Given the description of an element on the screen output the (x, y) to click on. 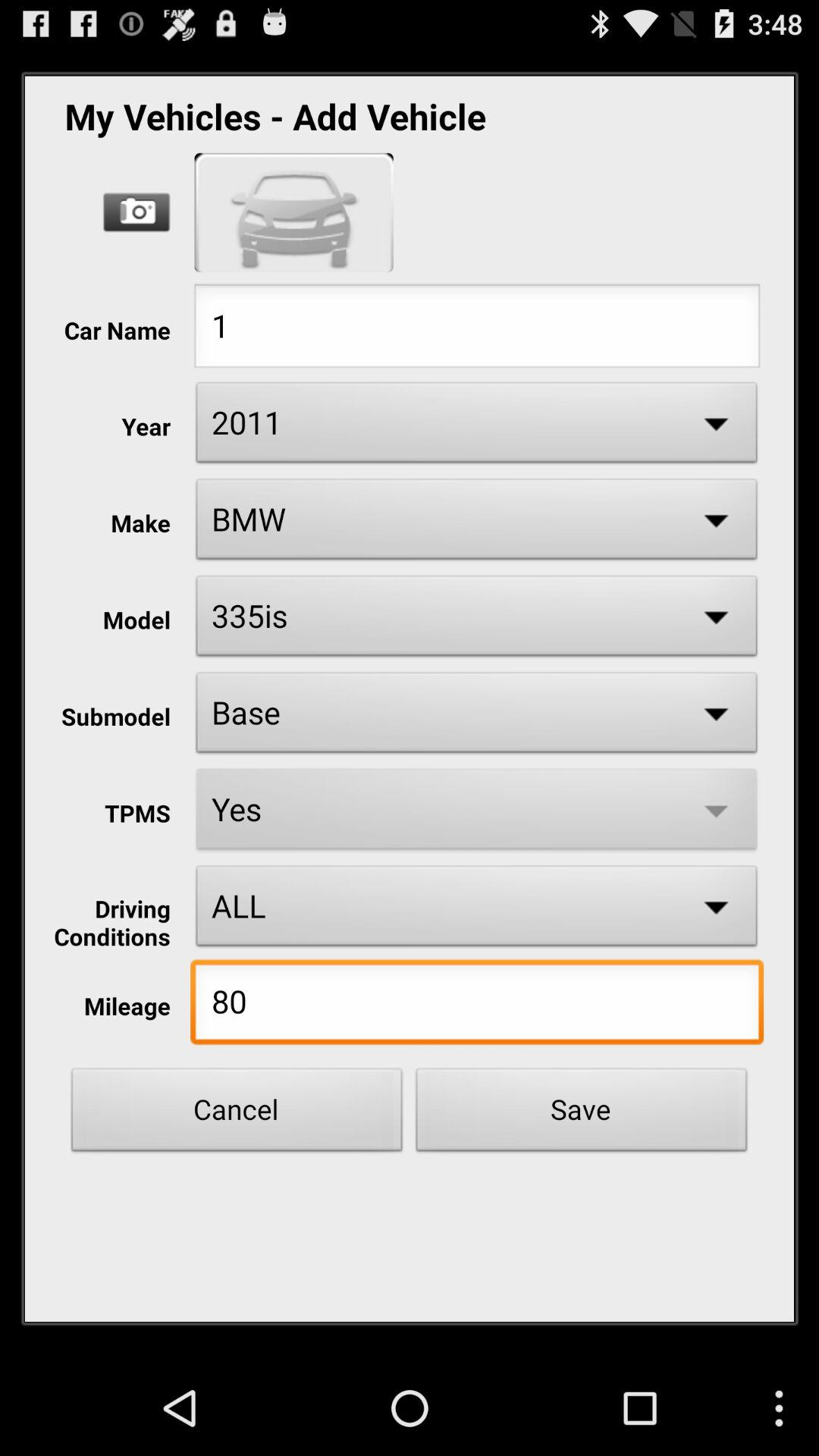
show car model (293, 212)
